Given the description of an element on the screen output the (x, y) to click on. 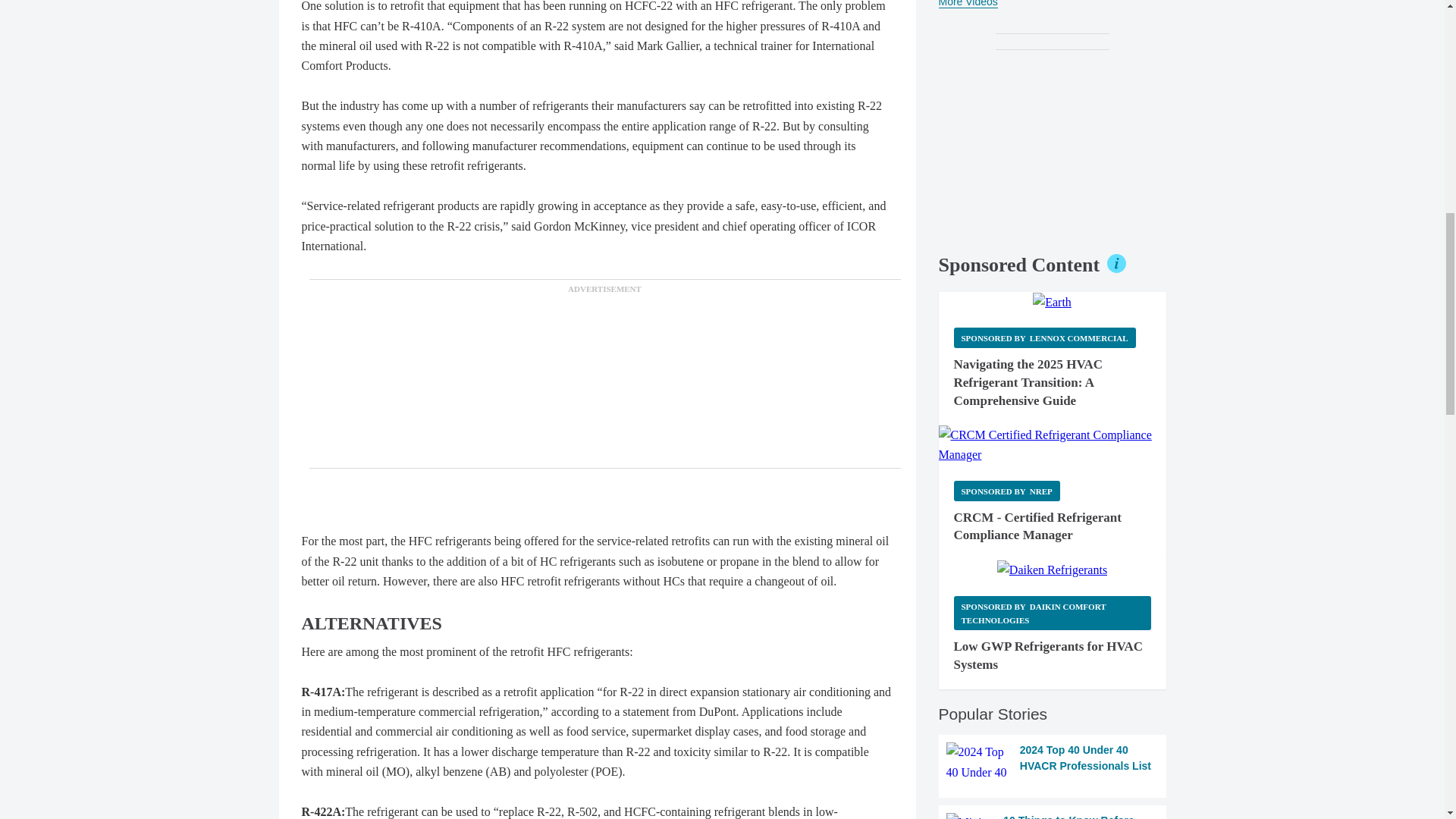
Sponsored by Daikin Comfort Technologies (1052, 612)
Sponsored by Lennox Commercial (1044, 337)
2024 Top 40 Under 40 HVACR Professionals List (1052, 762)
Daiken Refrigerants (1051, 569)
Sponsored by NREP (1006, 490)
CRCM Certified Refrigerant Compliance Manager (1052, 445)
Earth (1051, 302)
10 Things to Know Before Your First Mini-Split Call (1052, 816)
